Given the description of an element on the screen output the (x, y) to click on. 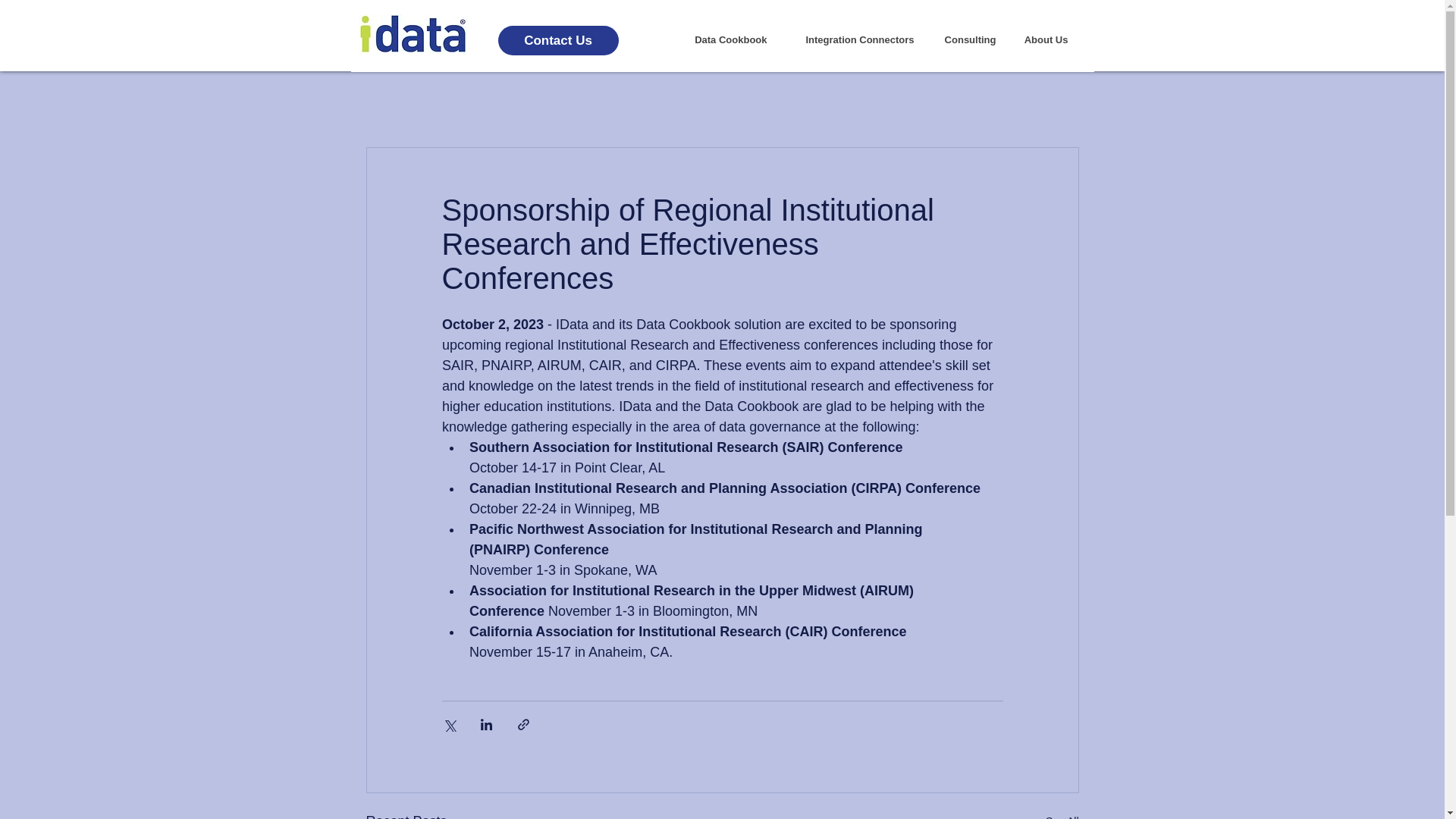
Data Cookbook (724, 39)
See All (1061, 814)
About Us (1042, 39)
Integration Connectors (850, 39)
Consulting (965, 39)
Contact Us (557, 40)
